Given the description of an element on the screen output the (x, y) to click on. 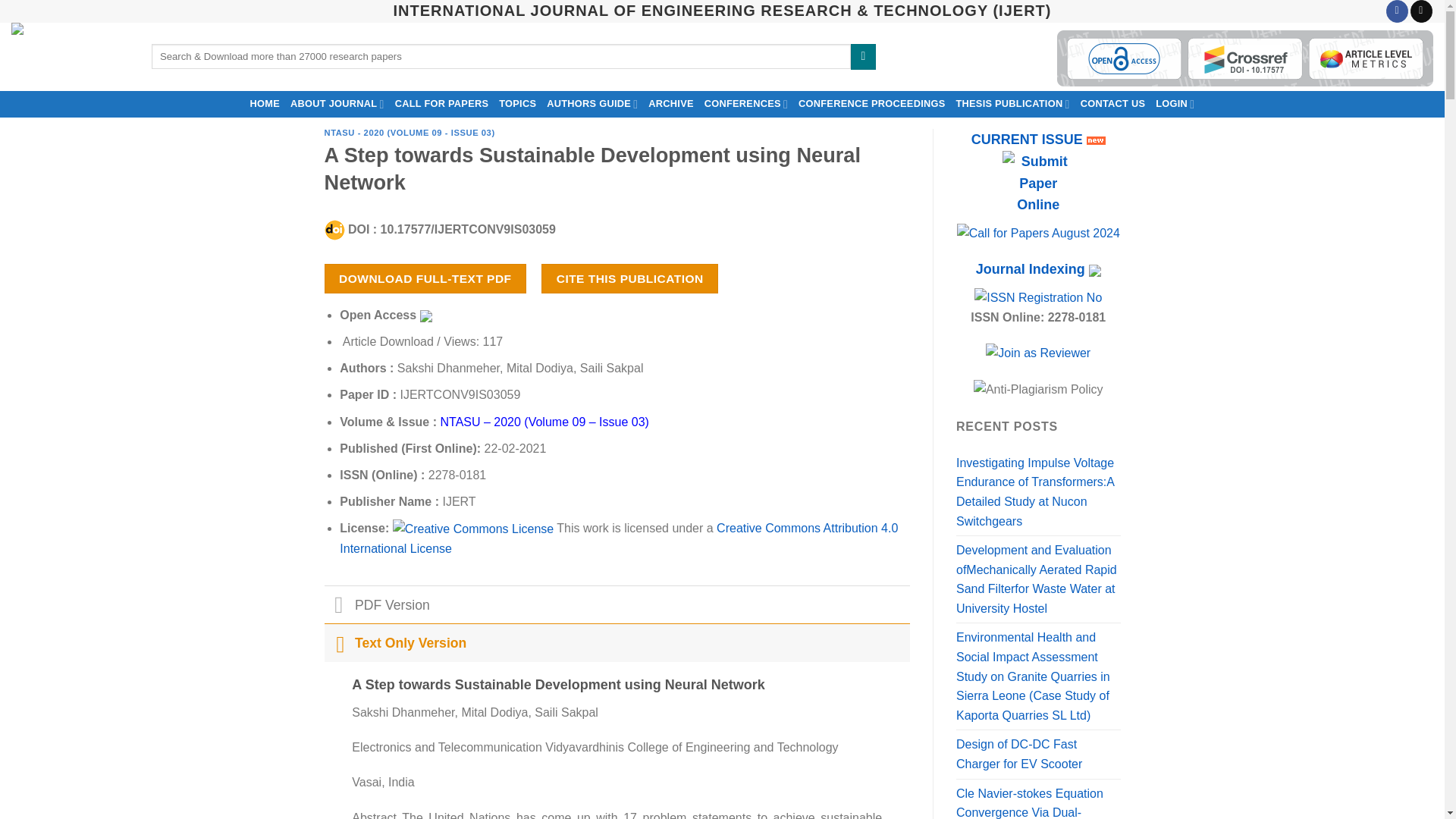
TOPICS (517, 103)
CONTACT US (1113, 103)
ARCHIVE (670, 103)
CONFERENCES (745, 103)
Follow on Facebook (1396, 11)
LOGIN (1174, 103)
ABOUT JOURNAL (337, 103)
CALL FOR PAPERS (442, 103)
CONFERENCE PROCEEDINGS (871, 103)
